Given the description of an element on the screen output the (x, y) to click on. 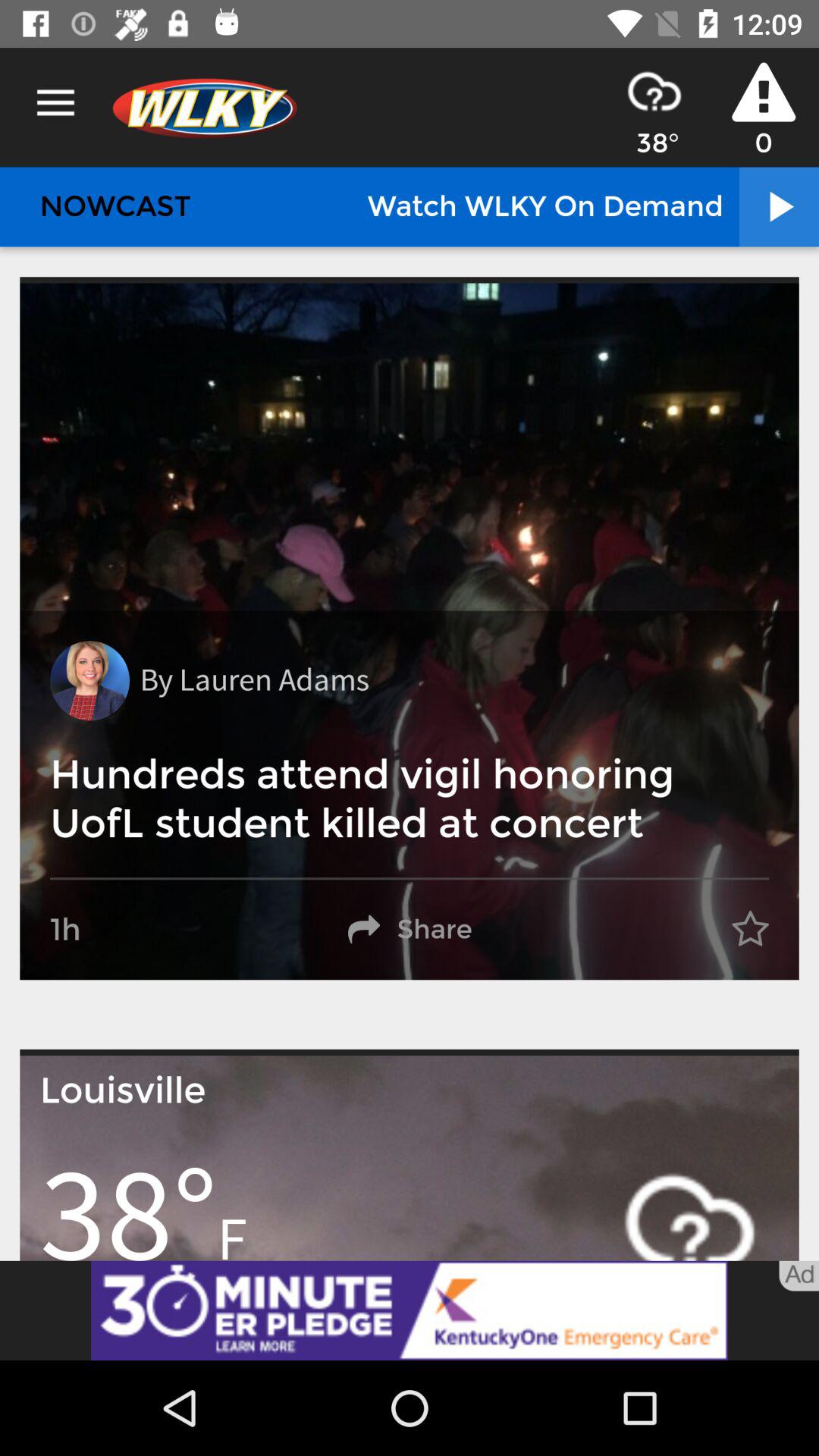
click on share (409, 929)
click the star mark right to share (750, 929)
select the icon on the right next to the logo on the web page (654, 90)
click on the symbol at the top right corner of the page (763, 92)
